Given the description of an element on the screen output the (x, y) to click on. 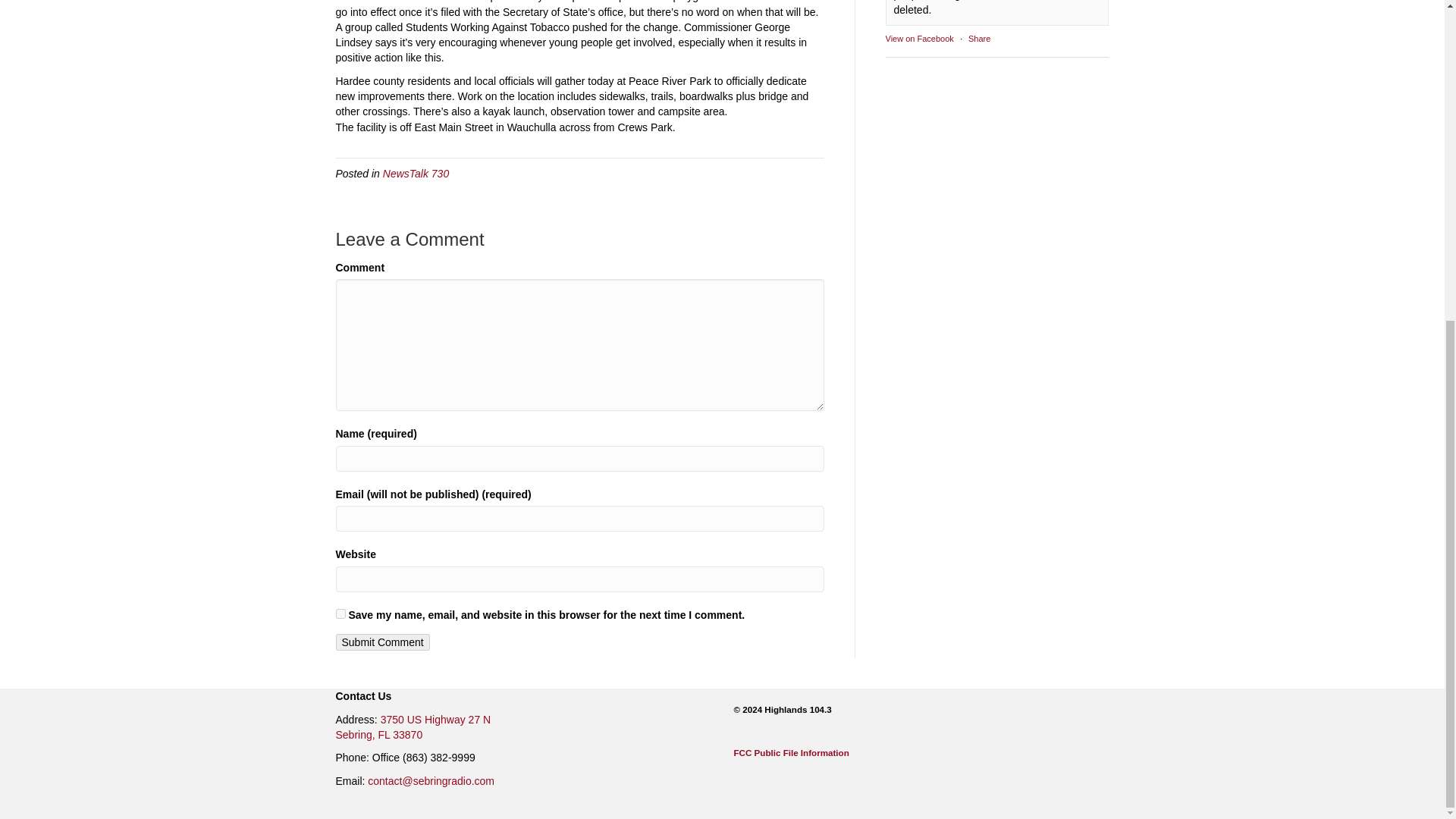
View on Facebook (919, 38)
Submit Comment (381, 641)
Likebox Iframe (412, 727)
Share (997, 129)
View on Facebook (979, 38)
Share (919, 38)
FCC Pu (979, 38)
yes (749, 752)
NewsTalk 730 (339, 614)
Submit Comment (415, 173)
